Given the description of an element on the screen output the (x, y) to click on. 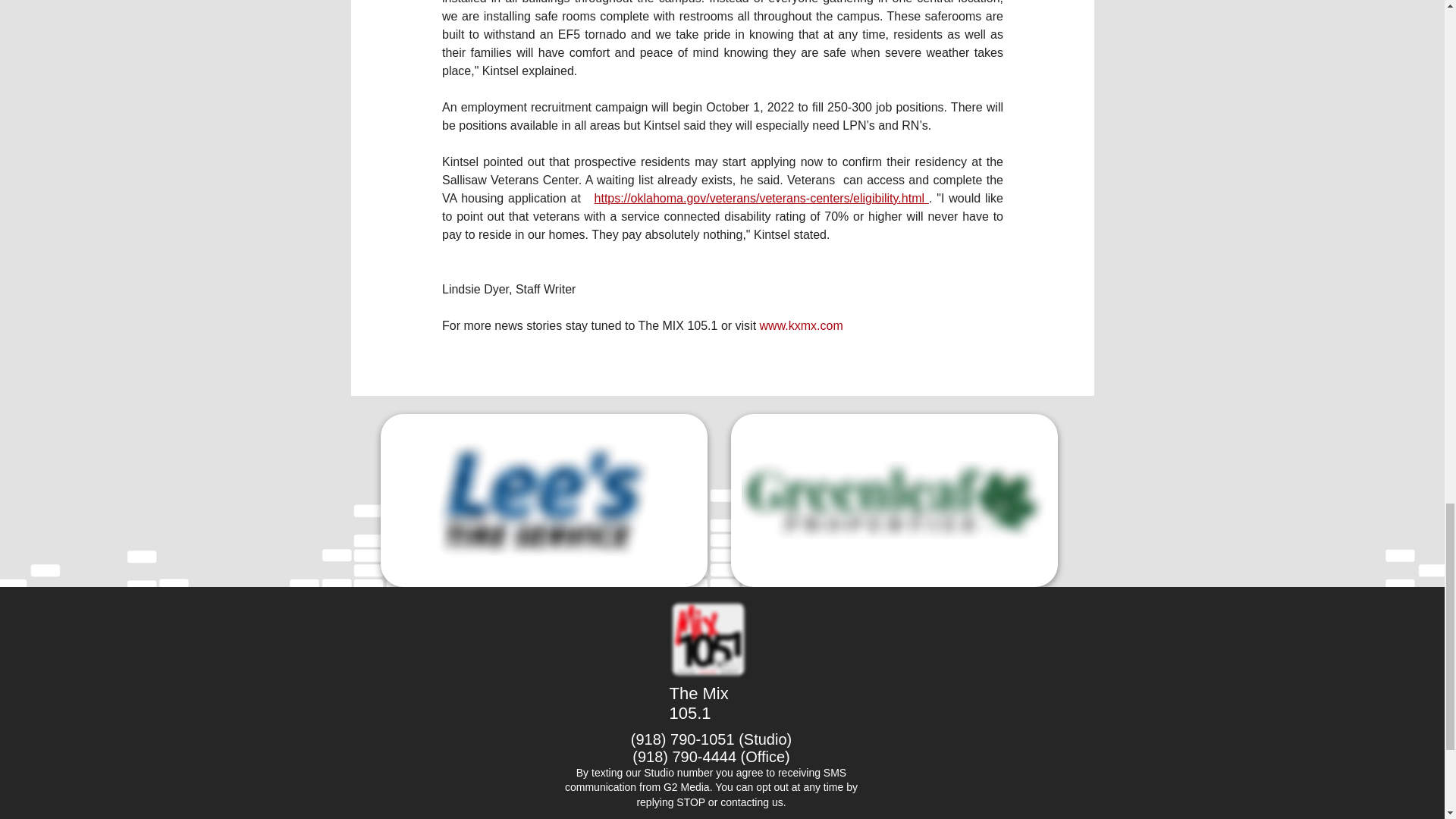
 www.kxmx.com (799, 325)
